Given the description of an element on the screen output the (x, y) to click on. 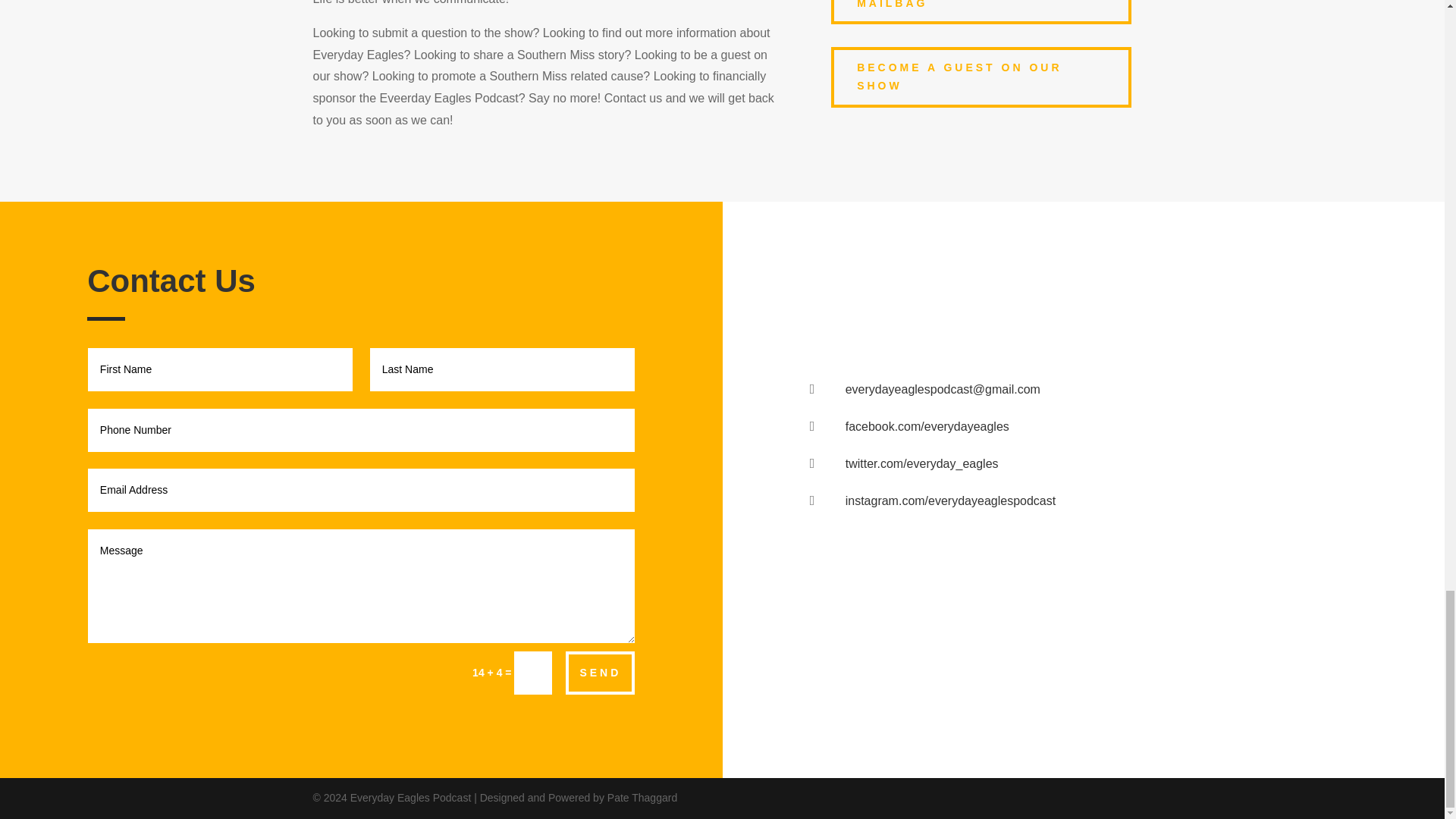
SEND (600, 672)
WRITE TO THE SHOW'S MAILBAG (981, 12)
BECOME A GUEST ON OUR SHOW (981, 76)
